Given the description of an element on the screen output the (x, y) to click on. 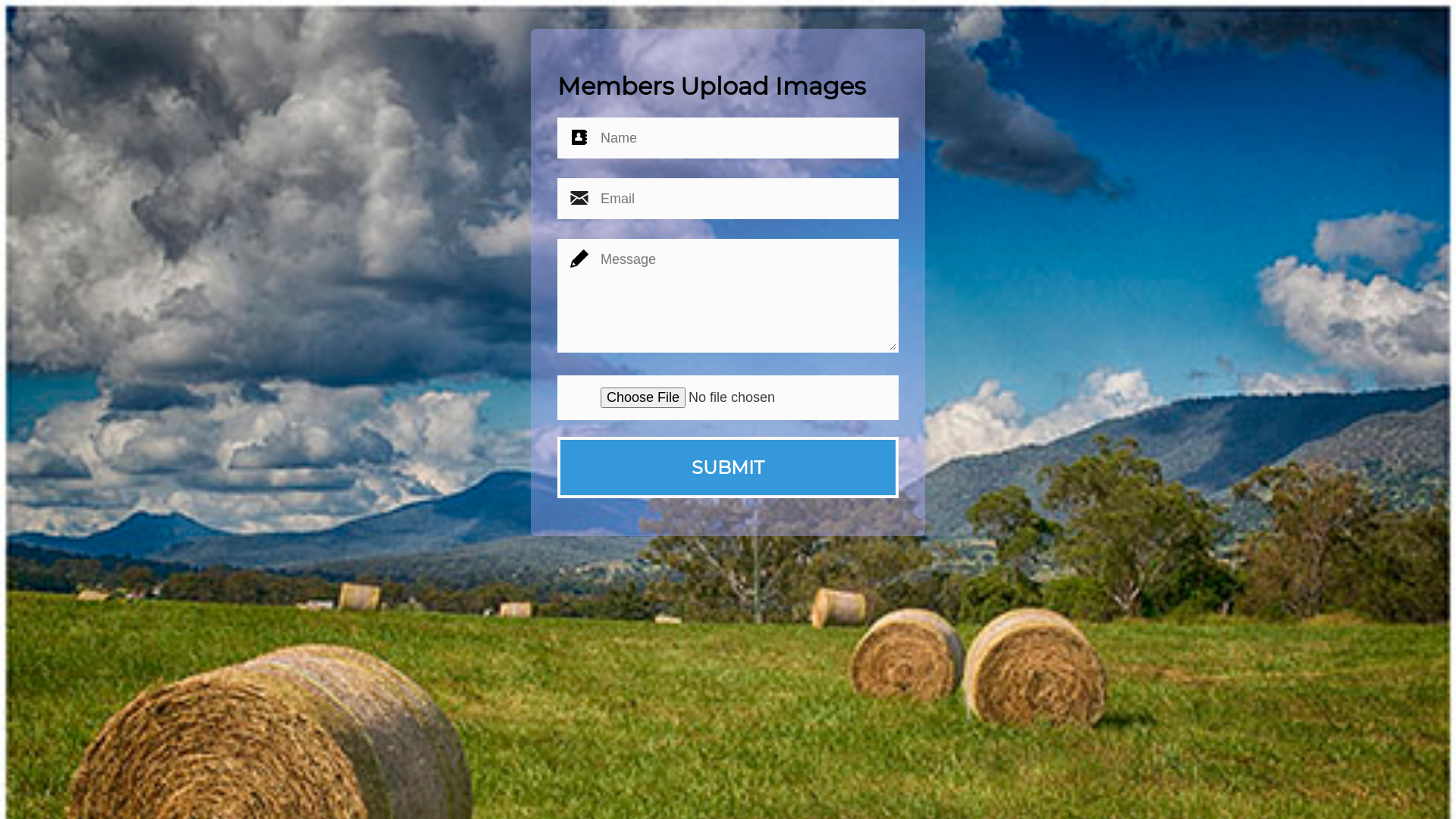
SUBMIT Element type: text (727, 467)
